Given the description of an element on the screen output the (x, y) to click on. 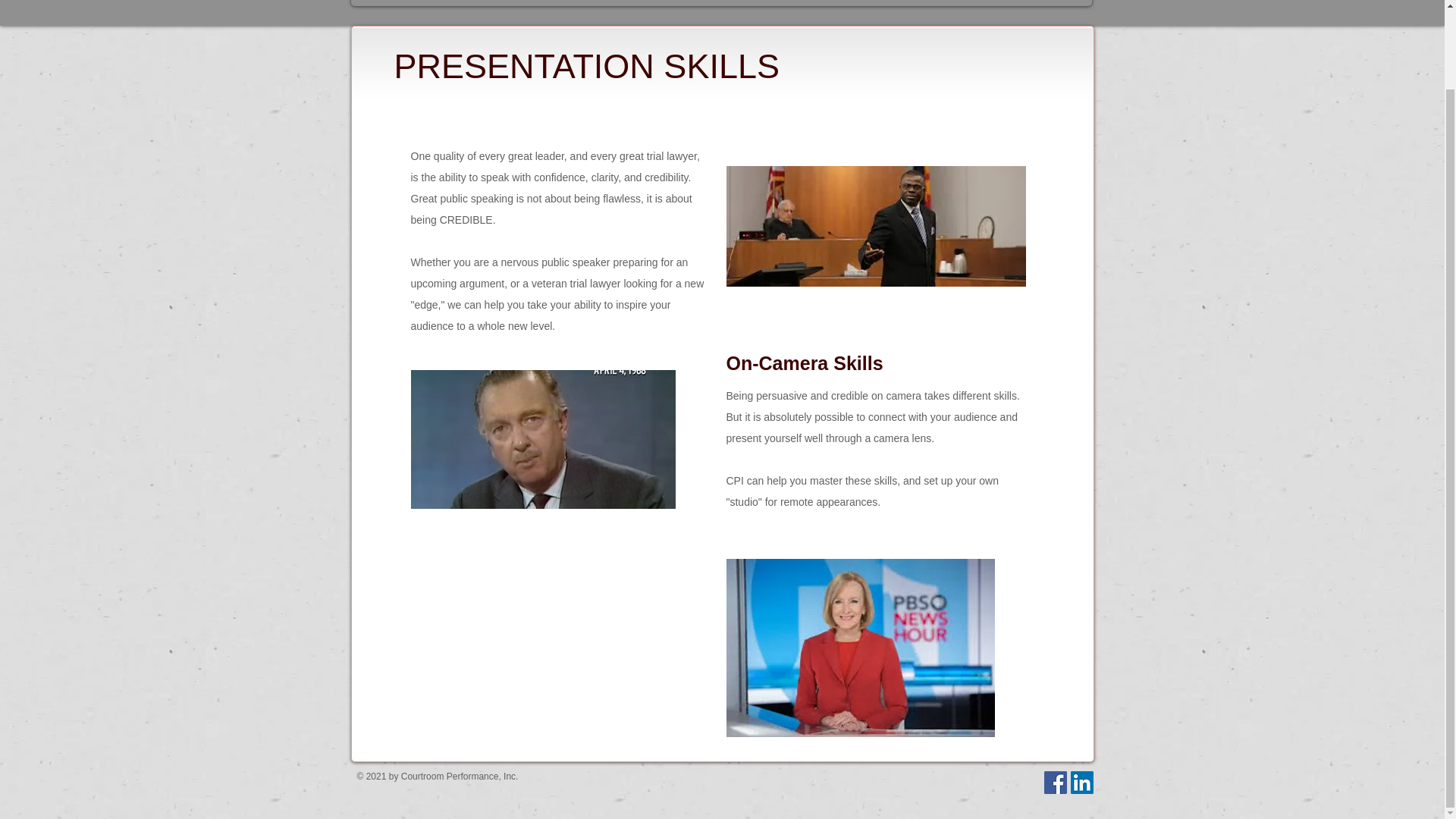
lawyer.jpg (876, 226)
PBS Newscaster.jpg (860, 647)
cronkite-1.png (542, 438)
